Given the description of an element on the screen output the (x, y) to click on. 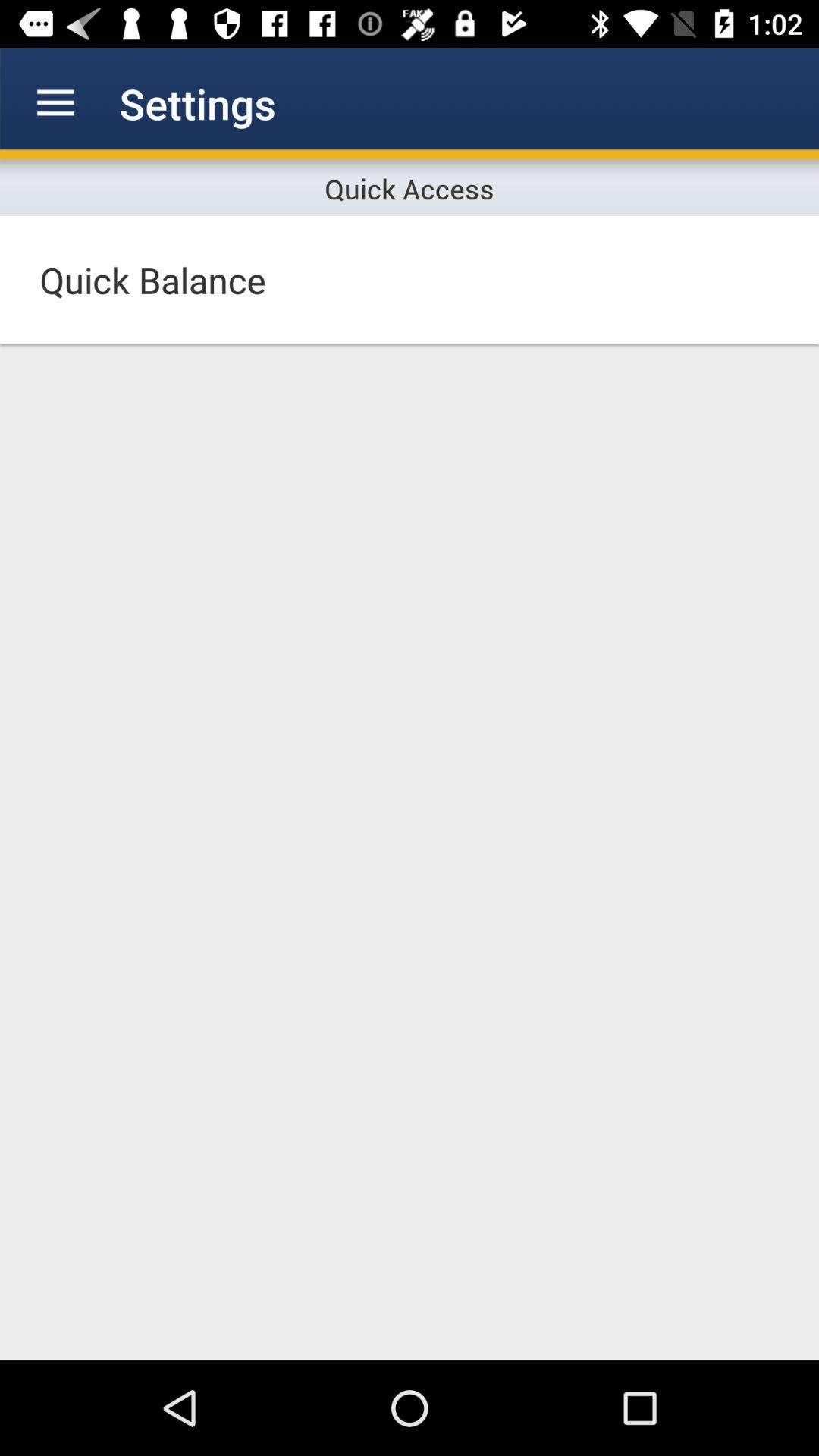
launch the app to the left of the settings app (55, 103)
